Given the description of an element on the screen output the (x, y) to click on. 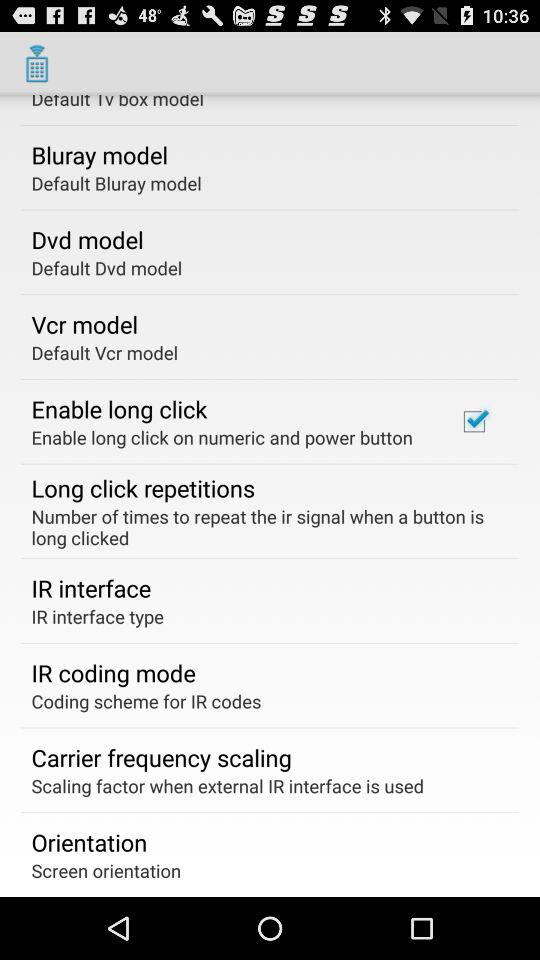
scroll to the screen orientation app (106, 870)
